Given the description of an element on the screen output the (x, y) to click on. 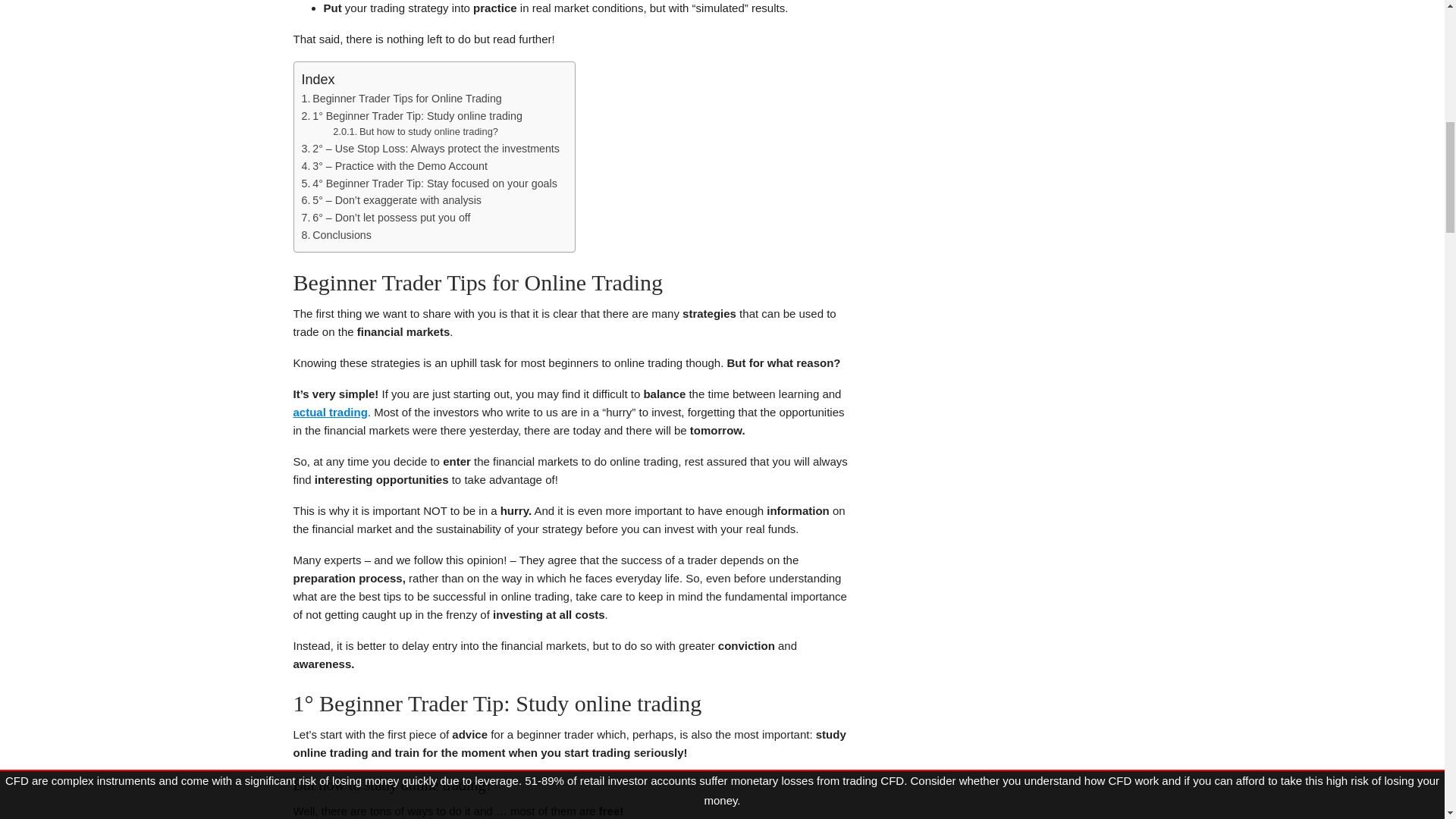
Conclusions (336, 235)
But how to study online trading? (415, 132)
Beginner Trader Tips for Online Trading (401, 98)
